Given the description of an element on the screen output the (x, y) to click on. 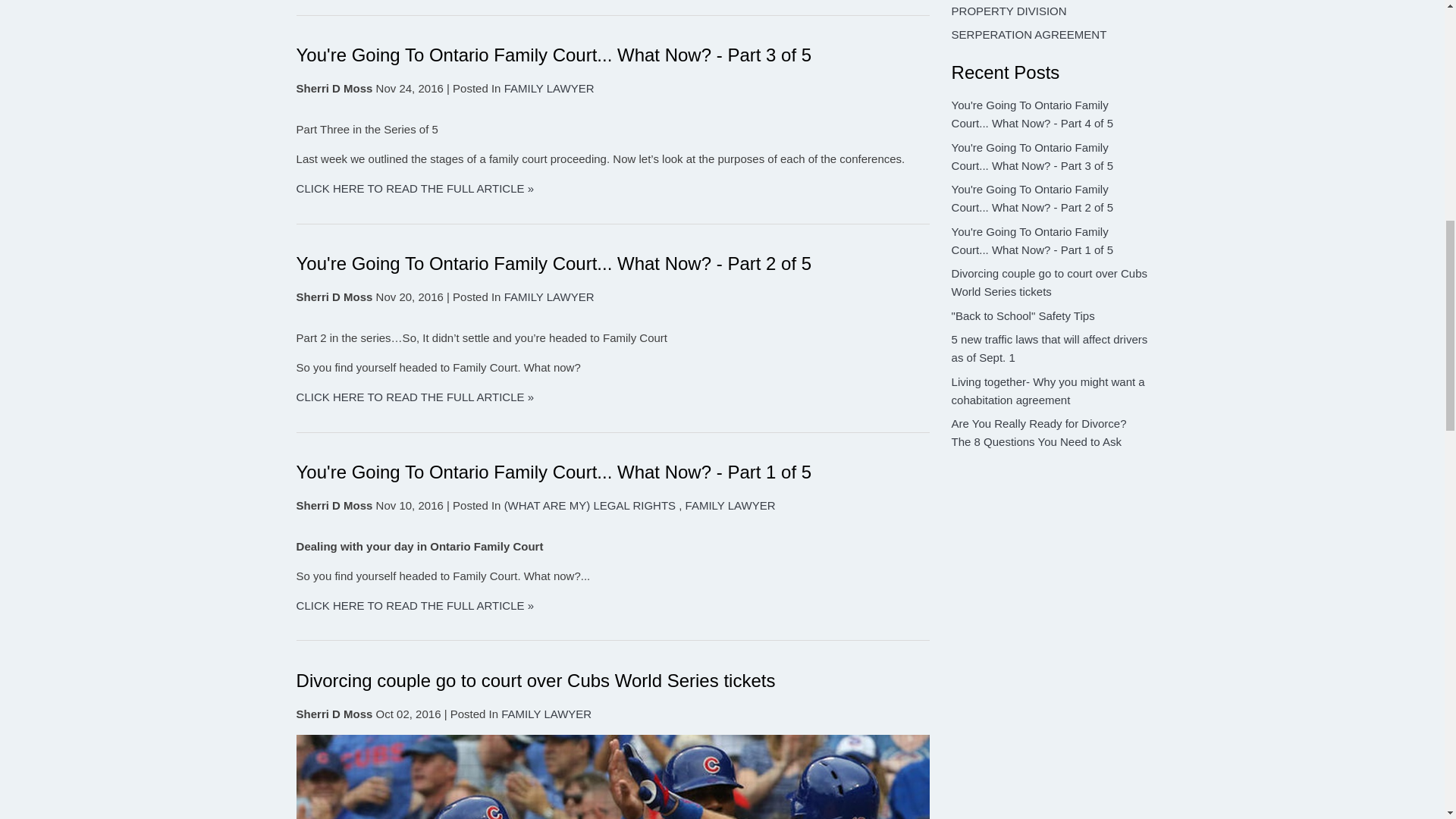
FAMILY LAWYER (548, 296)
FAMILY LAWYER (548, 88)
